Given the description of an element on the screen output the (x, y) to click on. 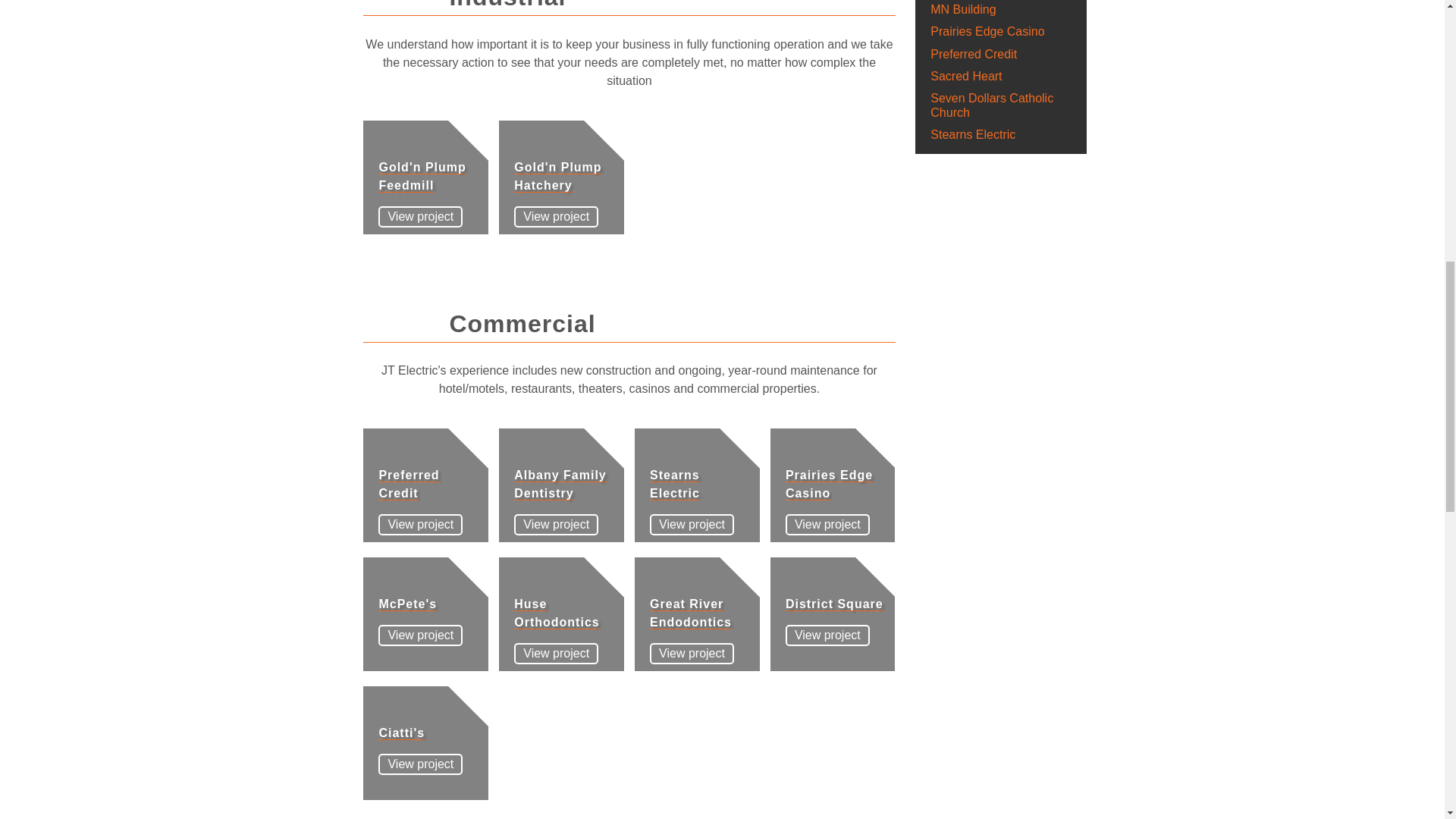
View project (420, 763)
View project (827, 524)
View project (555, 216)
View project (555, 653)
View project (420, 635)
View project (420, 524)
View project (420, 216)
View project (691, 524)
View project (691, 653)
View project (555, 524)
View project (827, 635)
